Given the description of an element on the screen output the (x, y) to click on. 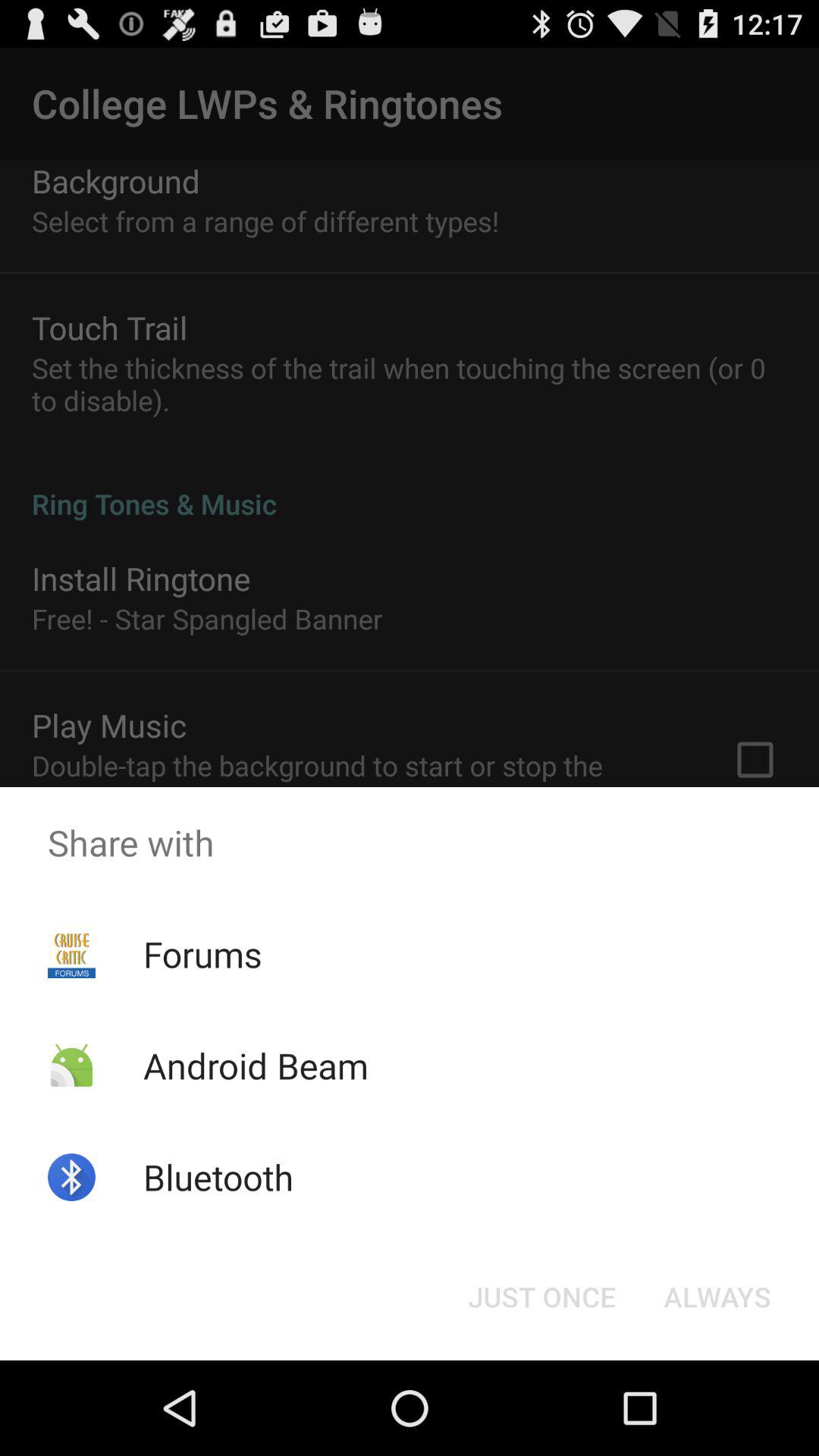
launch android beam (255, 1065)
